Given the description of an element on the screen output the (x, y) to click on. 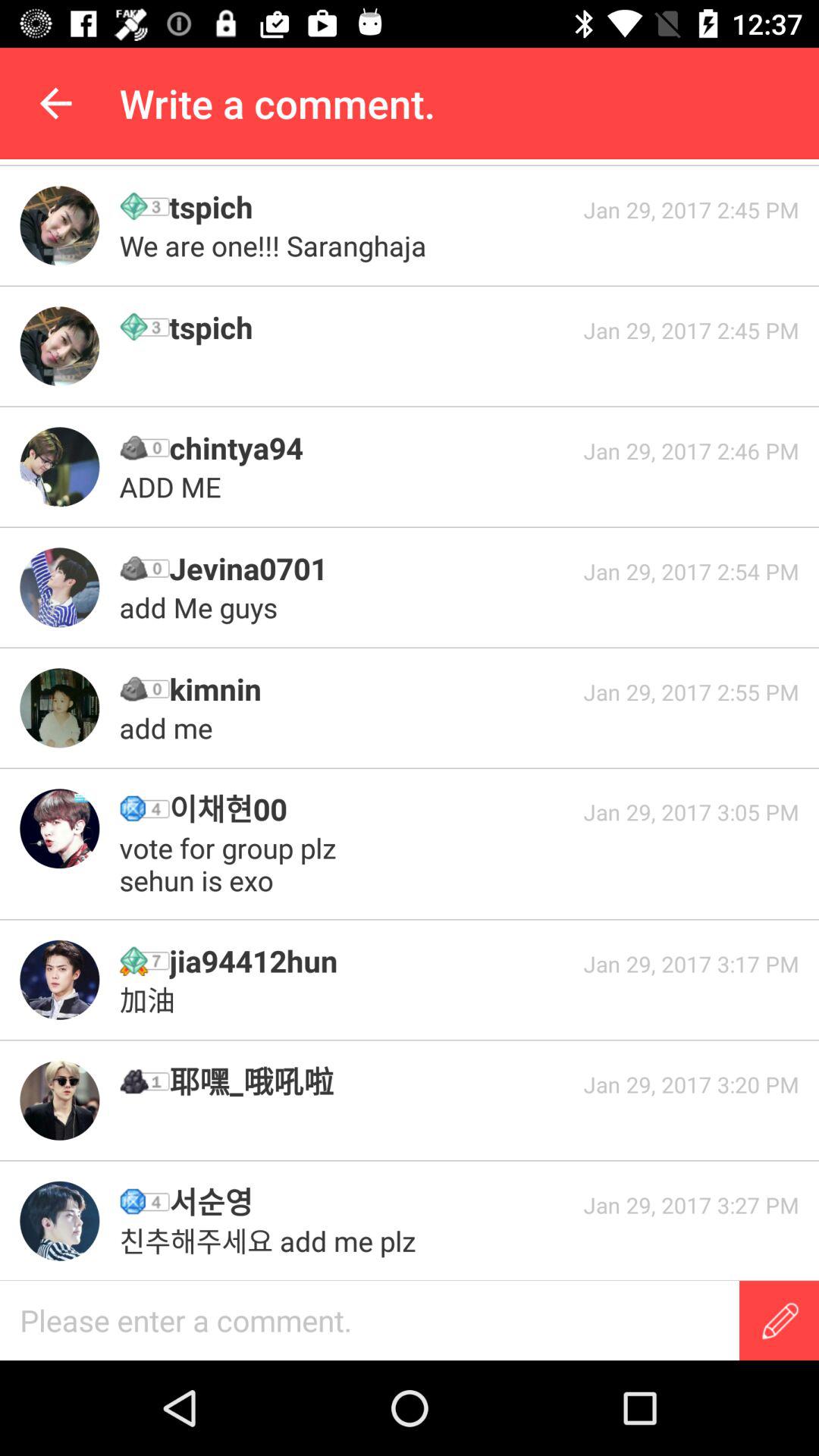
profile picture (59, 346)
